Given the description of an element on the screen output the (x, y) to click on. 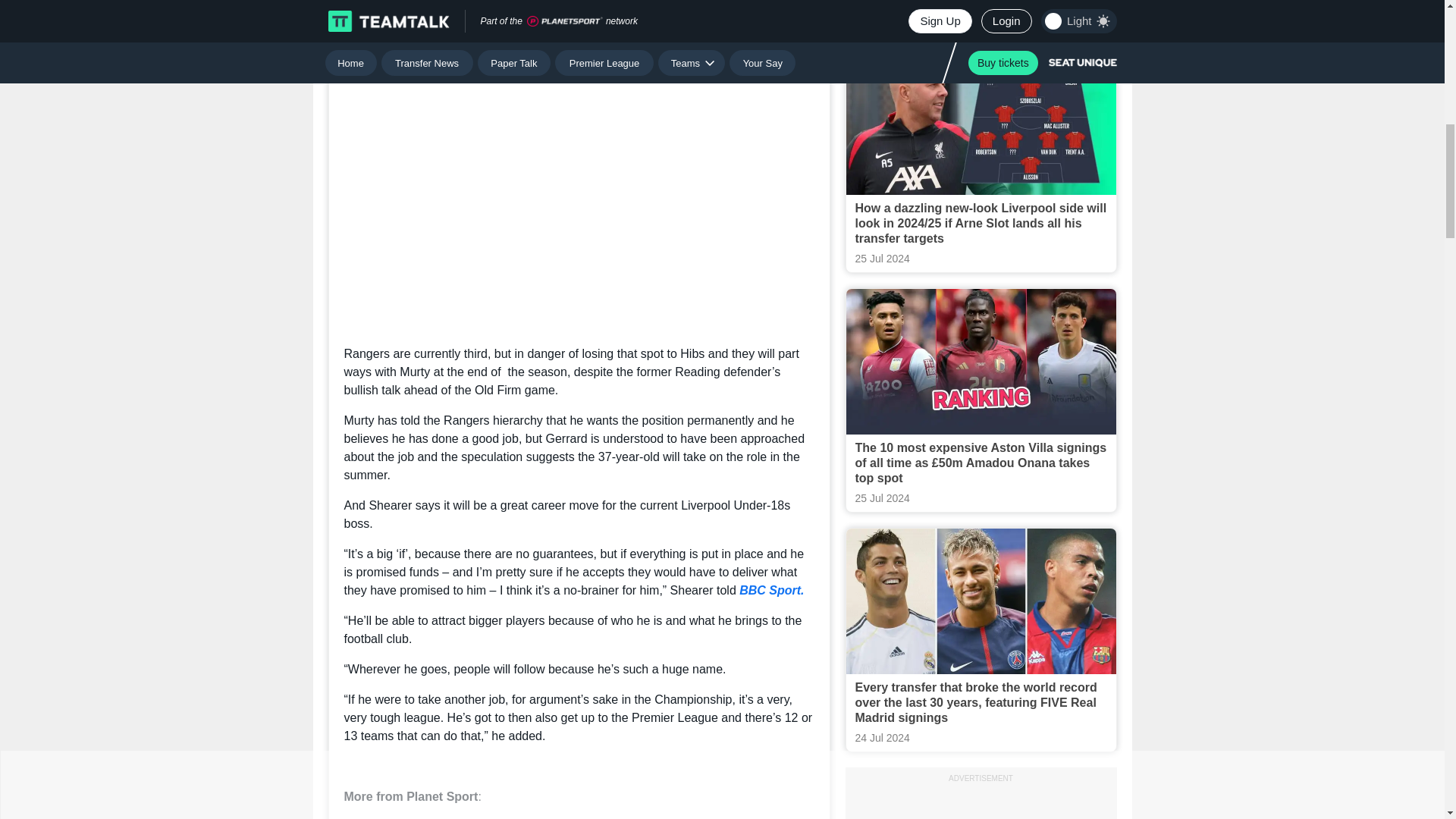
3rd party ad content (980, 803)
